Given the description of an element on the screen output the (x, y) to click on. 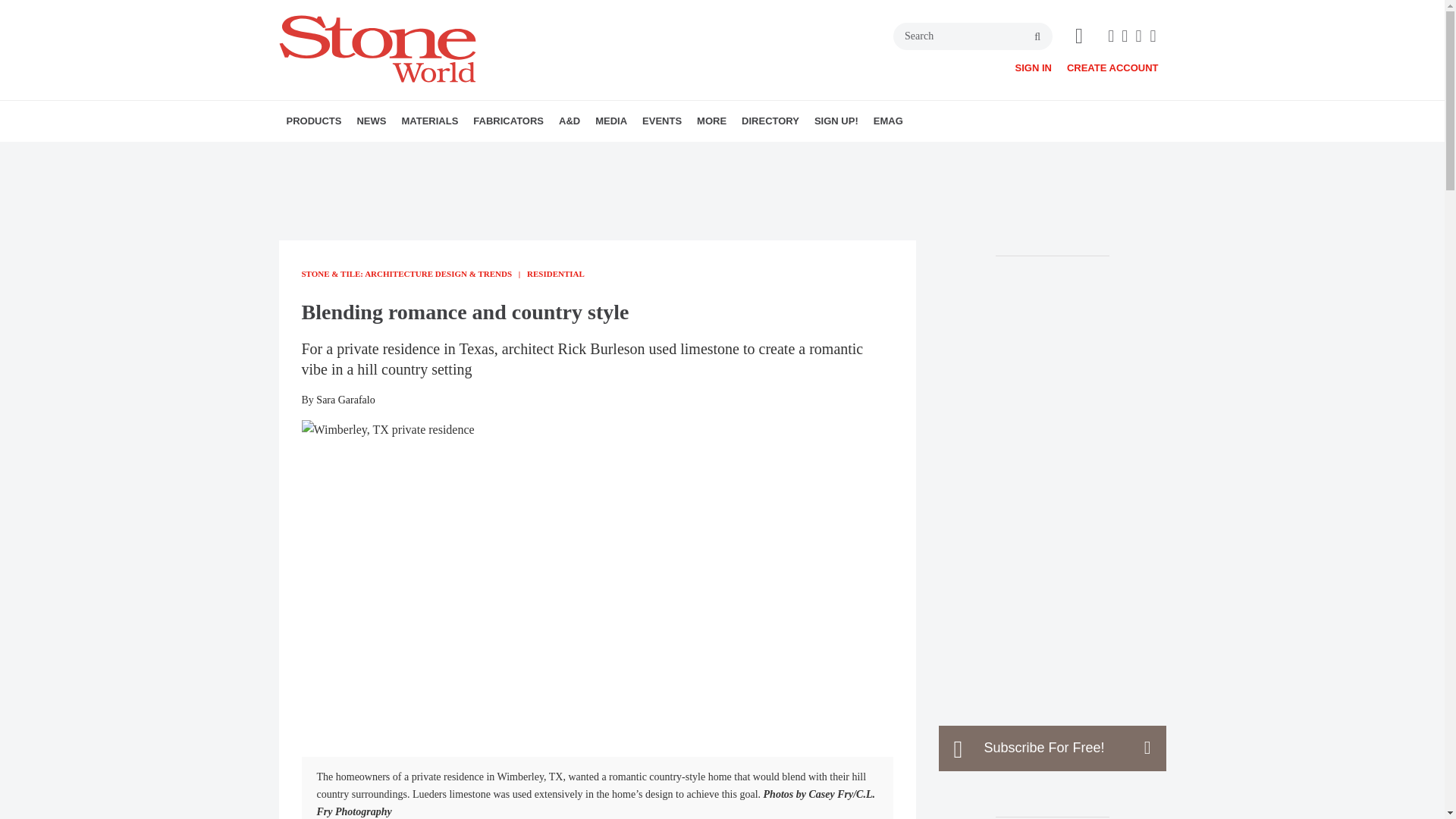
TILE (501, 154)
FABRICATOR CASE STUDIES (567, 154)
VIDEOS (682, 154)
FABRICATORS (508, 120)
Search (972, 35)
INTERIOR DESIGN (659, 154)
ALTERNATIVE SURFACES (488, 154)
RESIDENTIAL (679, 154)
PODCASTS (689, 154)
MACHINERY (373, 154)
NEWS (371, 120)
search (1037, 37)
FABRICATOR HOW-TO (560, 154)
PRODUCTS (314, 120)
MATERIALS (429, 120)
